Given the description of an element on the screen output the (x, y) to click on. 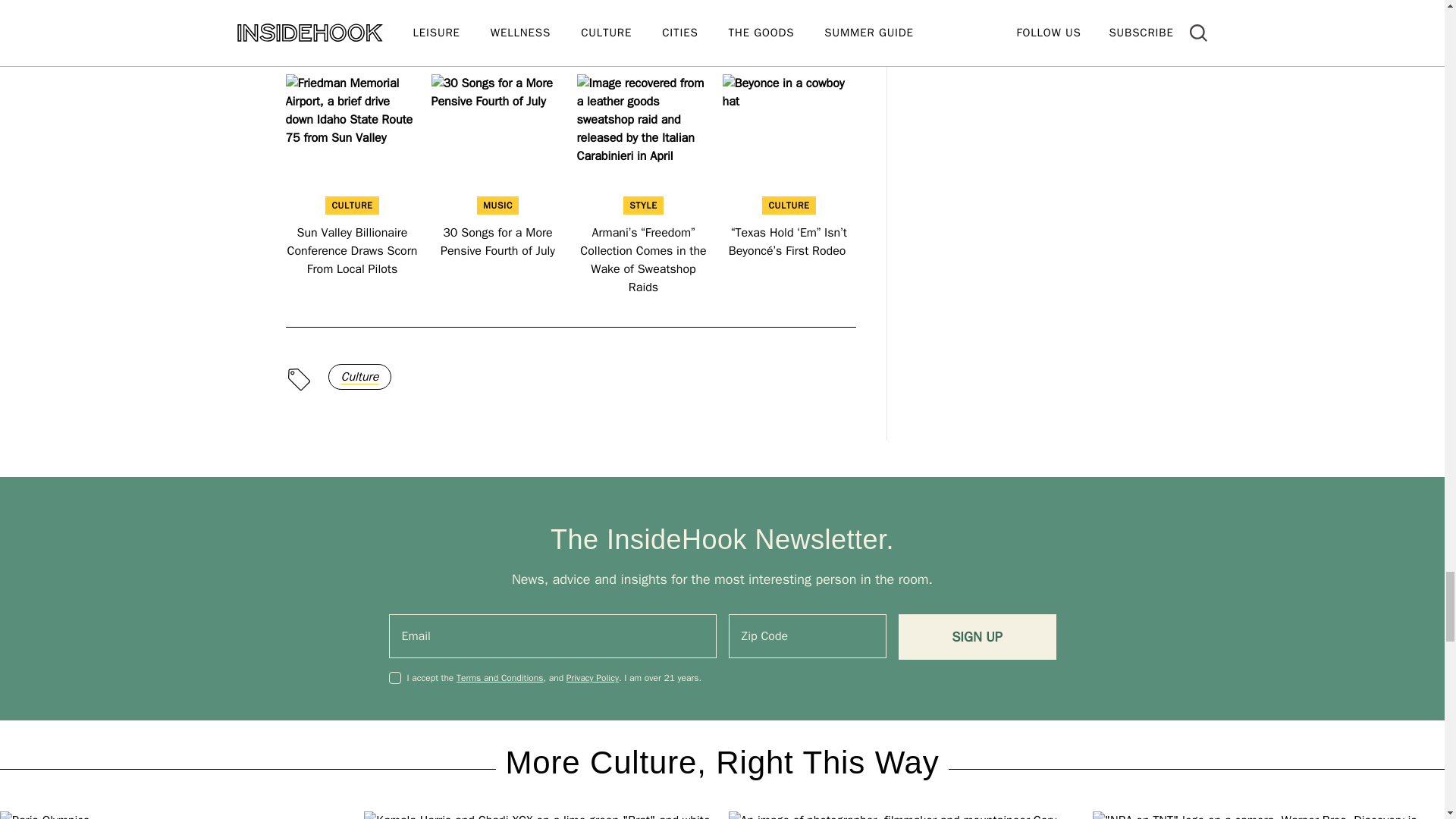
on (394, 677)
